Given the description of an element on the screen output the (x, y) to click on. 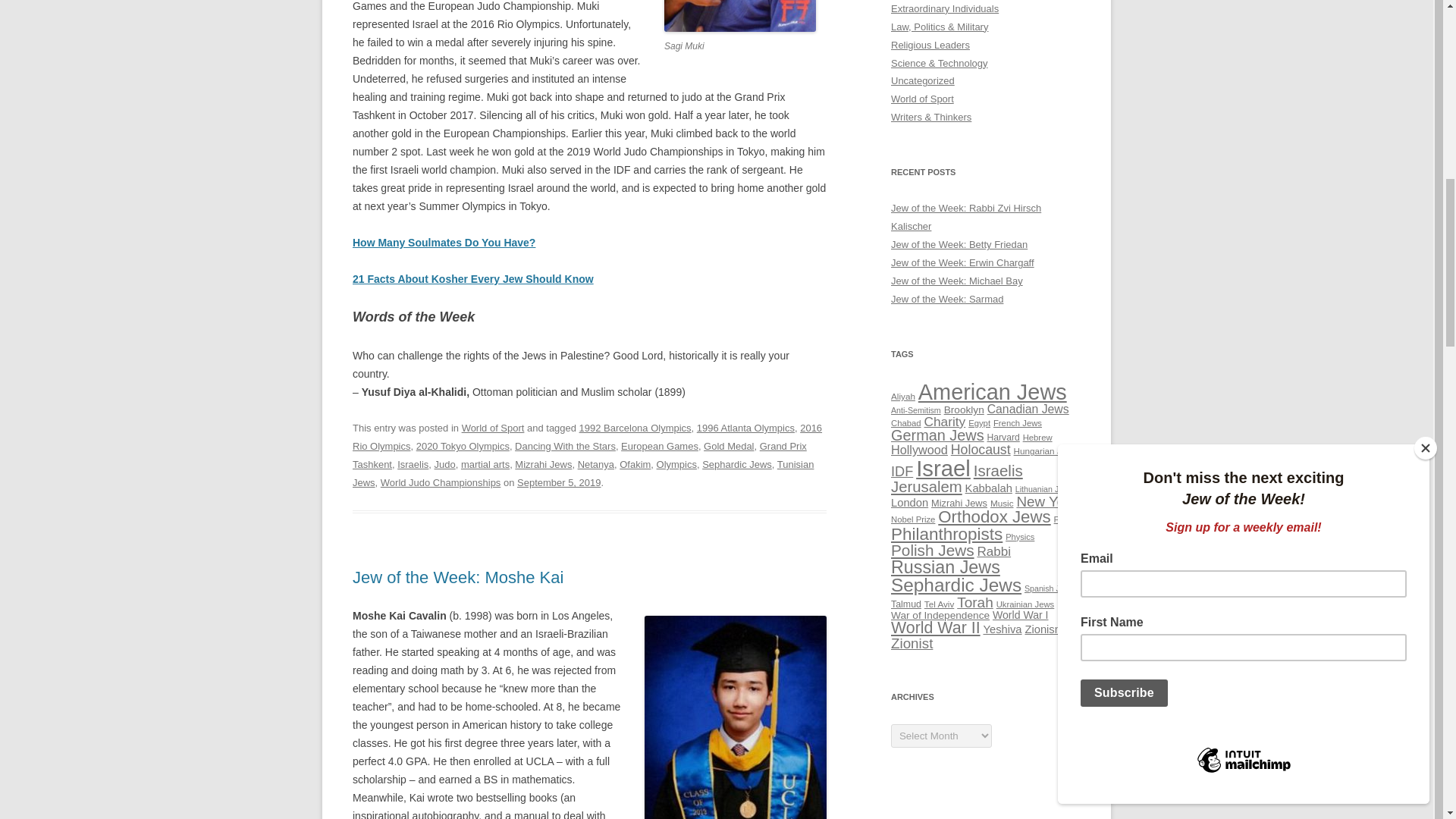
Dancing With the Stars (565, 446)
1992 Barcelona Olympics (635, 428)
Israelis (412, 464)
European Games (659, 446)
World Judo Championships (440, 482)
Netanya (596, 464)
September 5, 2019 (557, 482)
Tunisian Jews (582, 473)
martial arts (485, 464)
21 Facts About Kosher Every Jew Should Know (473, 278)
Mizrahi Jews (543, 464)
1996 Atlanta Olympics (745, 428)
Sephardic Jews (736, 464)
Ofakim (635, 464)
1:10 pm (557, 482)
